Given the description of an element on the screen output the (x, y) to click on. 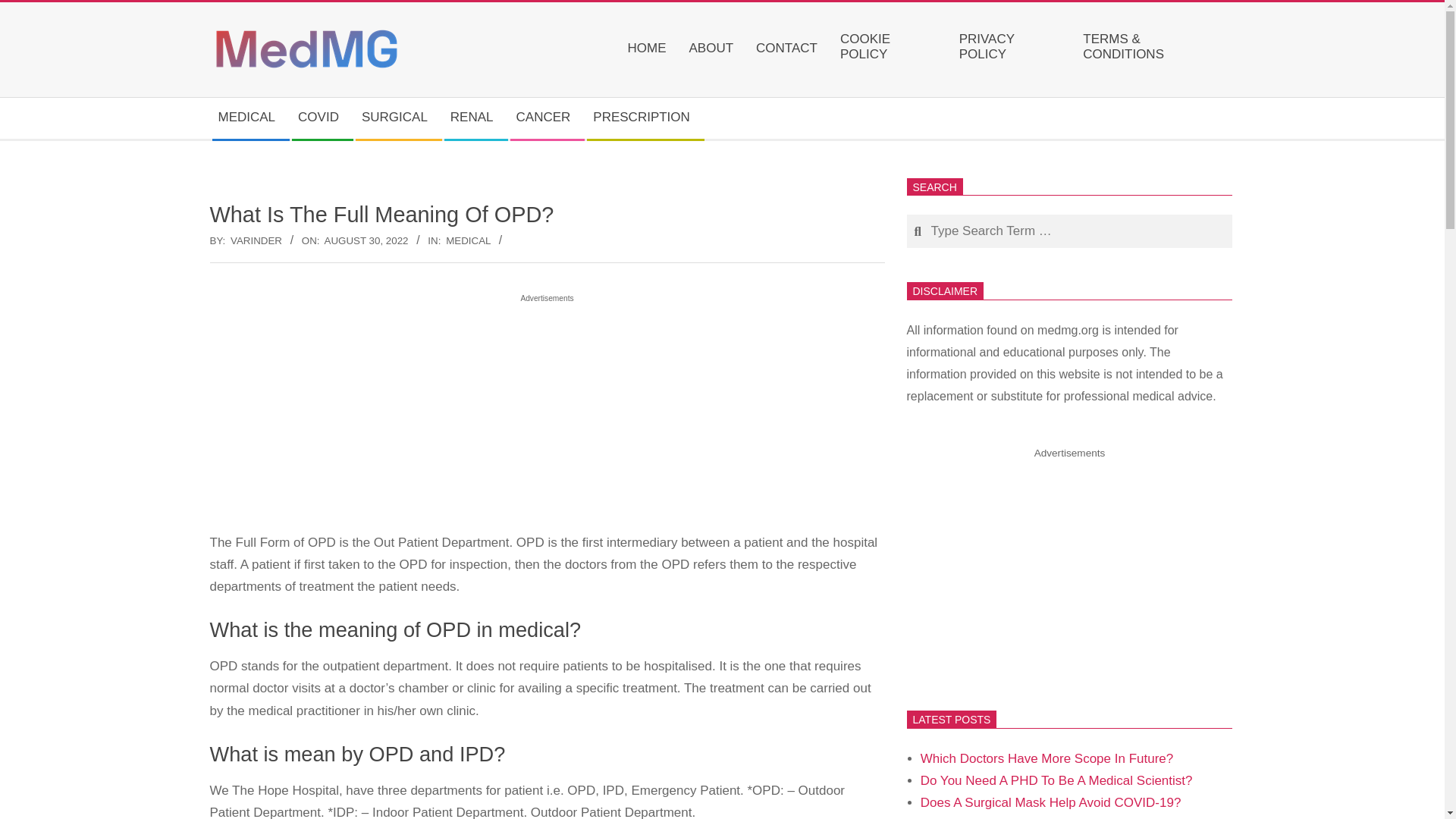
CONTACT (790, 48)
HOME (650, 48)
COVID (321, 117)
COOKIE POLICY (892, 49)
Tuesday, August 30, 2022, 6:11 pm (366, 240)
SURGICAL (397, 117)
Posts by varinder (256, 240)
PRESCRIPTION (644, 117)
VARINDER (256, 240)
CANCER (547, 117)
ABOUT (714, 48)
RENAL (475, 117)
Advertisement (1070, 570)
